Given the description of an element on the screen output the (x, y) to click on. 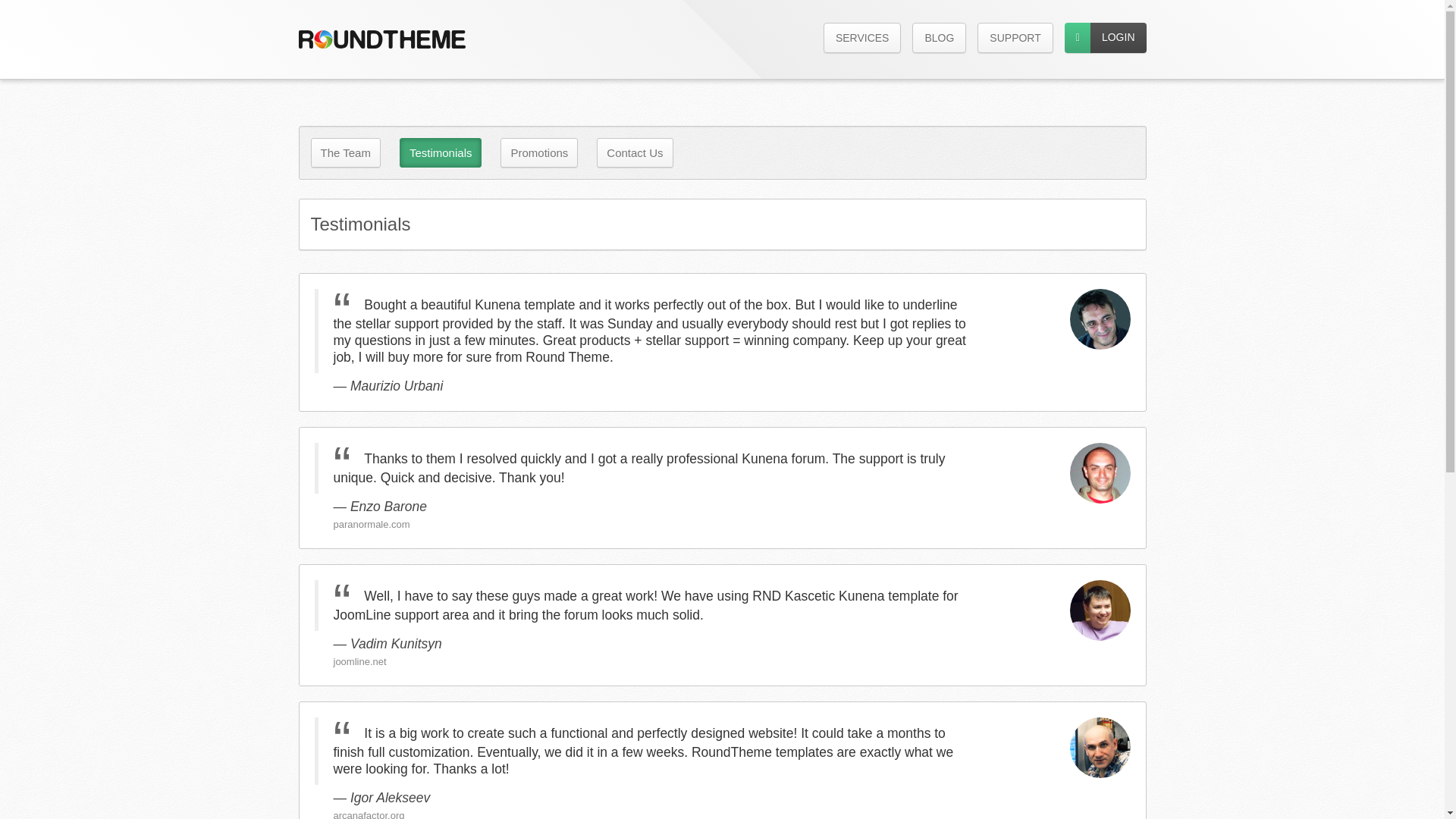
arcanafactor.org (368, 813)
SUPPORT (1014, 37)
Testimonials (439, 152)
BLOG (939, 37)
The Team (345, 152)
Contact Us (634, 152)
SERVICES (862, 37)
LOGIN (1118, 37)
Promotions (539, 152)
joomline.net (360, 661)
paranormale.com (371, 524)
RoundTheme - Premium Joomla Templates club (381, 39)
